Given the description of an element on the screen output the (x, y) to click on. 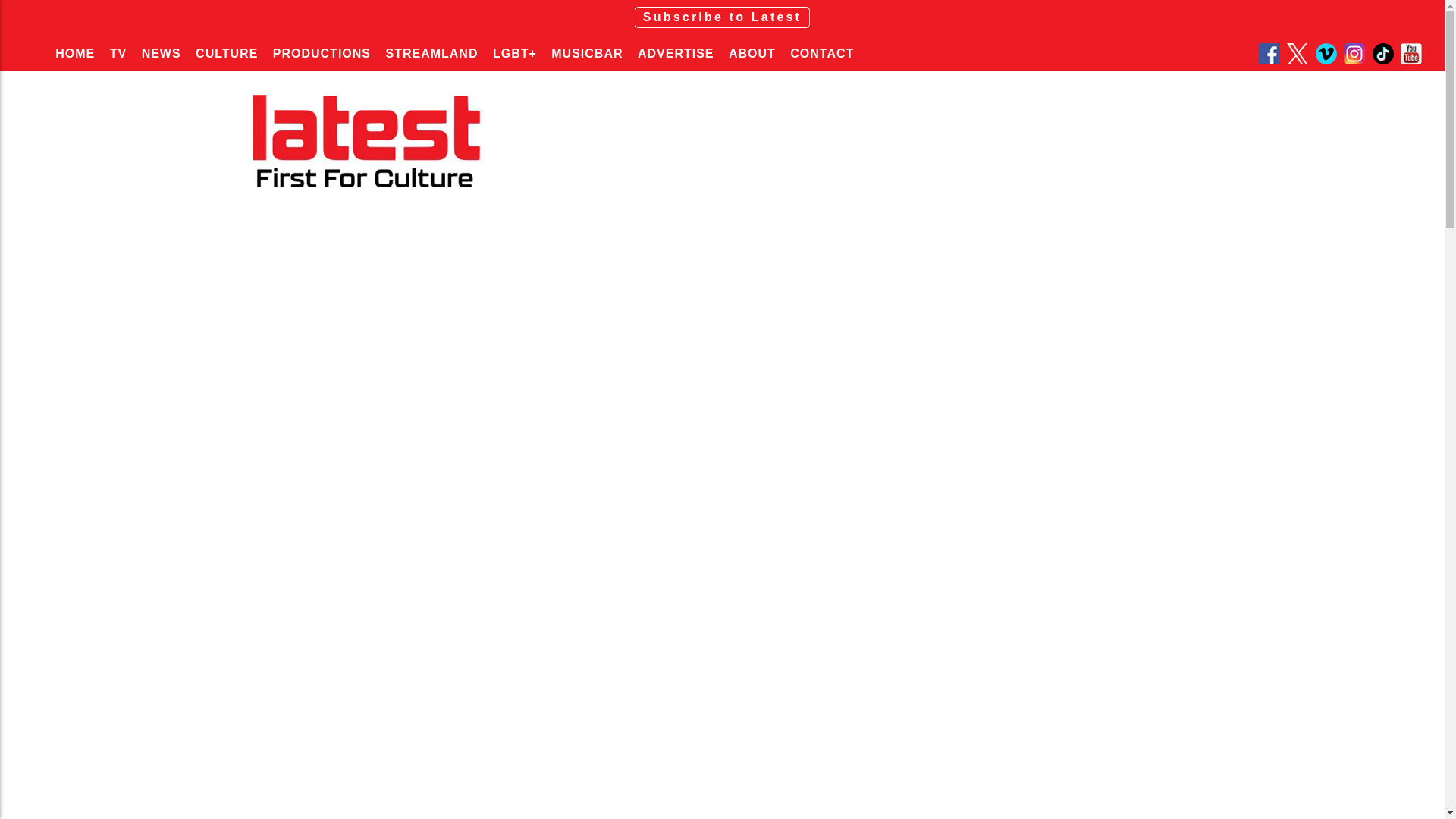
CONTACT (821, 52)
HOME (74, 52)
MUSICBAR (587, 52)
Facebook (1271, 53)
STREAMLAND (431, 52)
Subscribe to Latest (721, 16)
CULTURE (226, 52)
YouTube (1412, 53)
ABOUT (752, 52)
Vimeo (1328, 53)
